Given the description of an element on the screen output the (x, y) to click on. 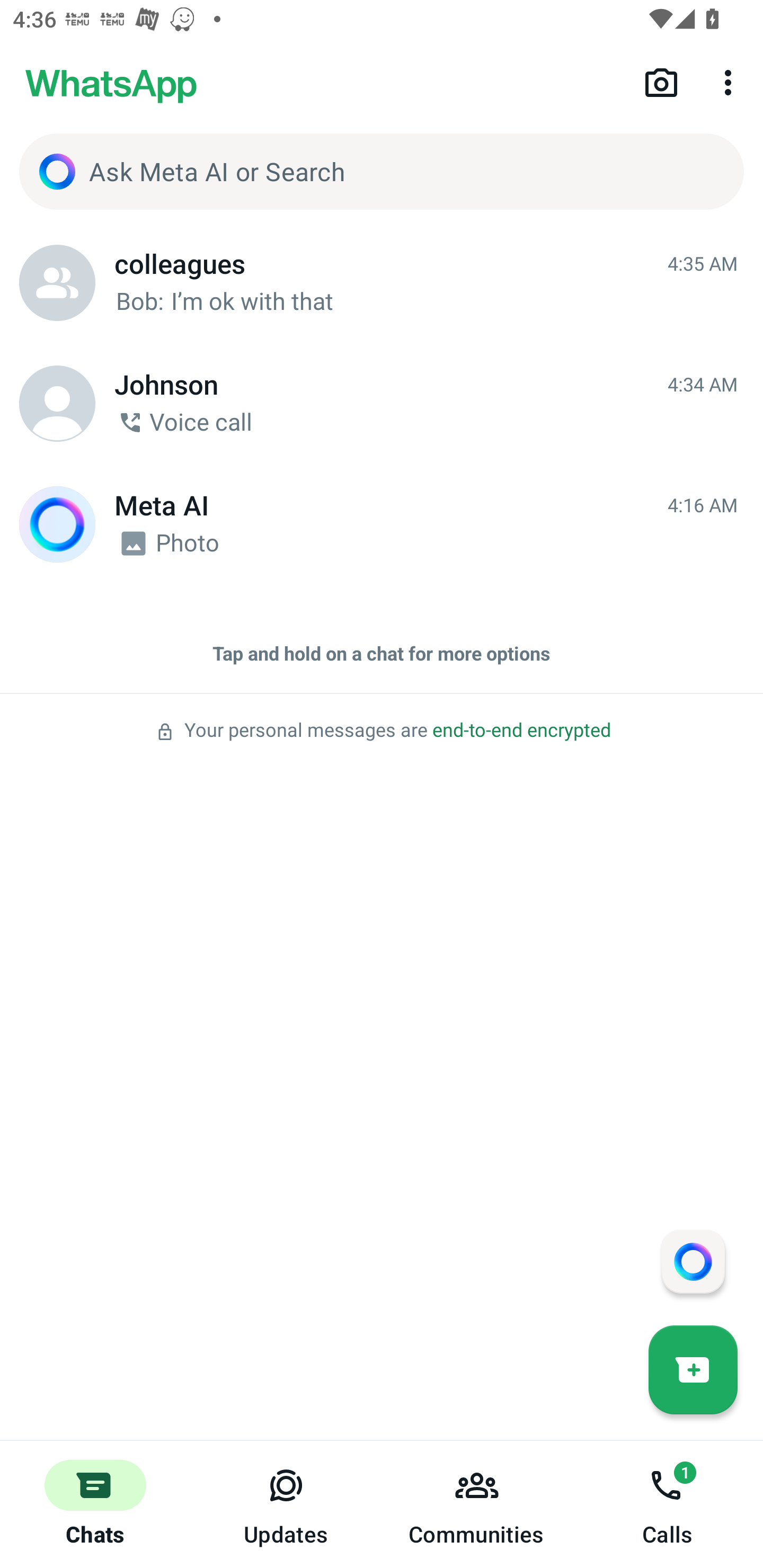
Camera (661, 81)
More options (731, 81)
colleagues (57, 282)
Johnson Johnson 4:34 AM 4:34 AM Voice call (381, 403)
Johnson (57, 403)
Meta AI Meta AI 4:16 AM 4:16 AM Photo (381, 524)
Meta AI (57, 524)
end-to-end encrypted (521, 730)
Message your assistant (692, 1261)
New chat (692, 1369)
Updates (285, 1504)
Communities (476, 1504)
Calls, 1 new notification Calls (667, 1504)
